Given the description of an element on the screen output the (x, y) to click on. 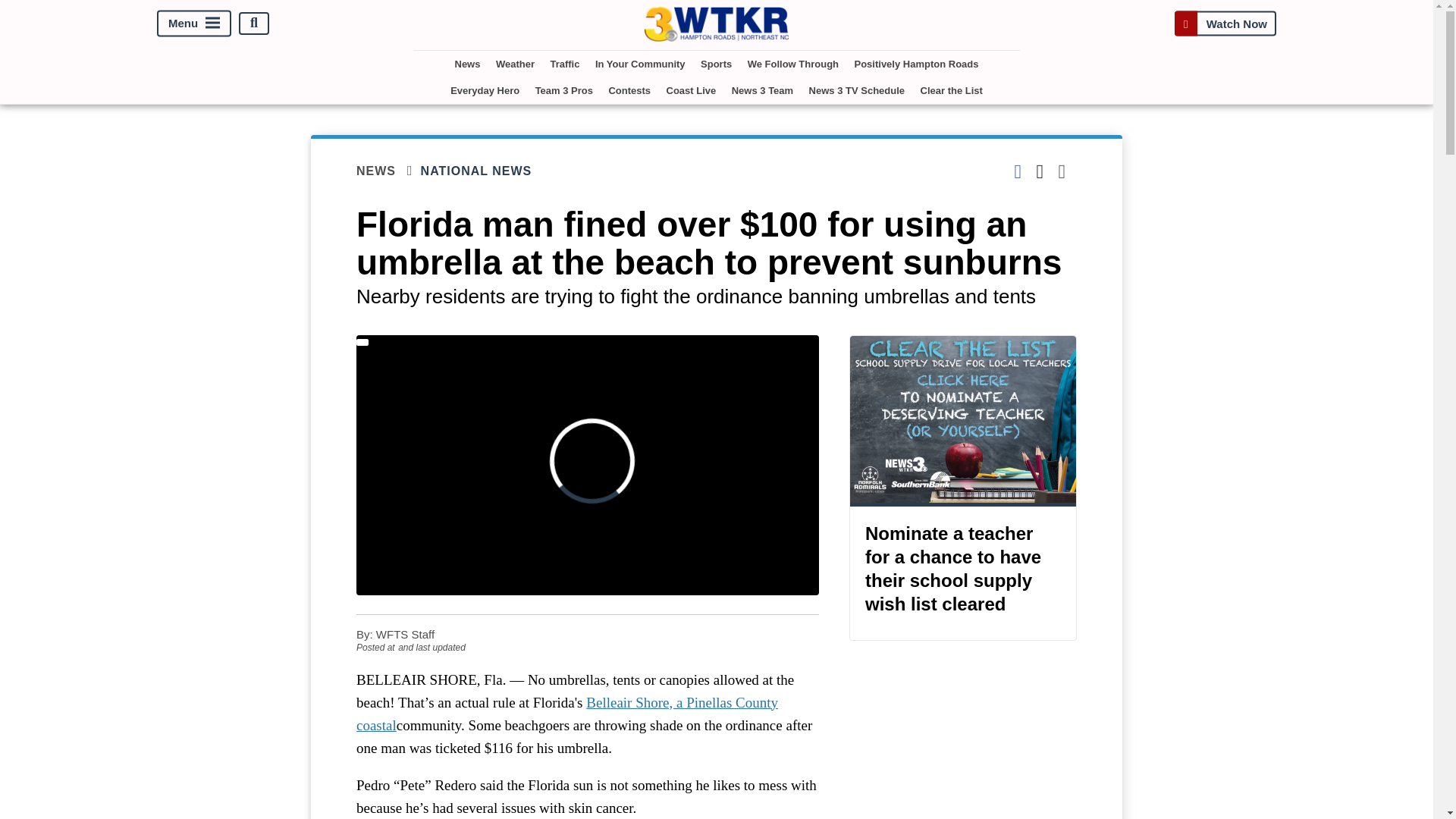
Watch Now (1224, 22)
Menu (194, 22)
